Given the description of an element on the screen output the (x, y) to click on. 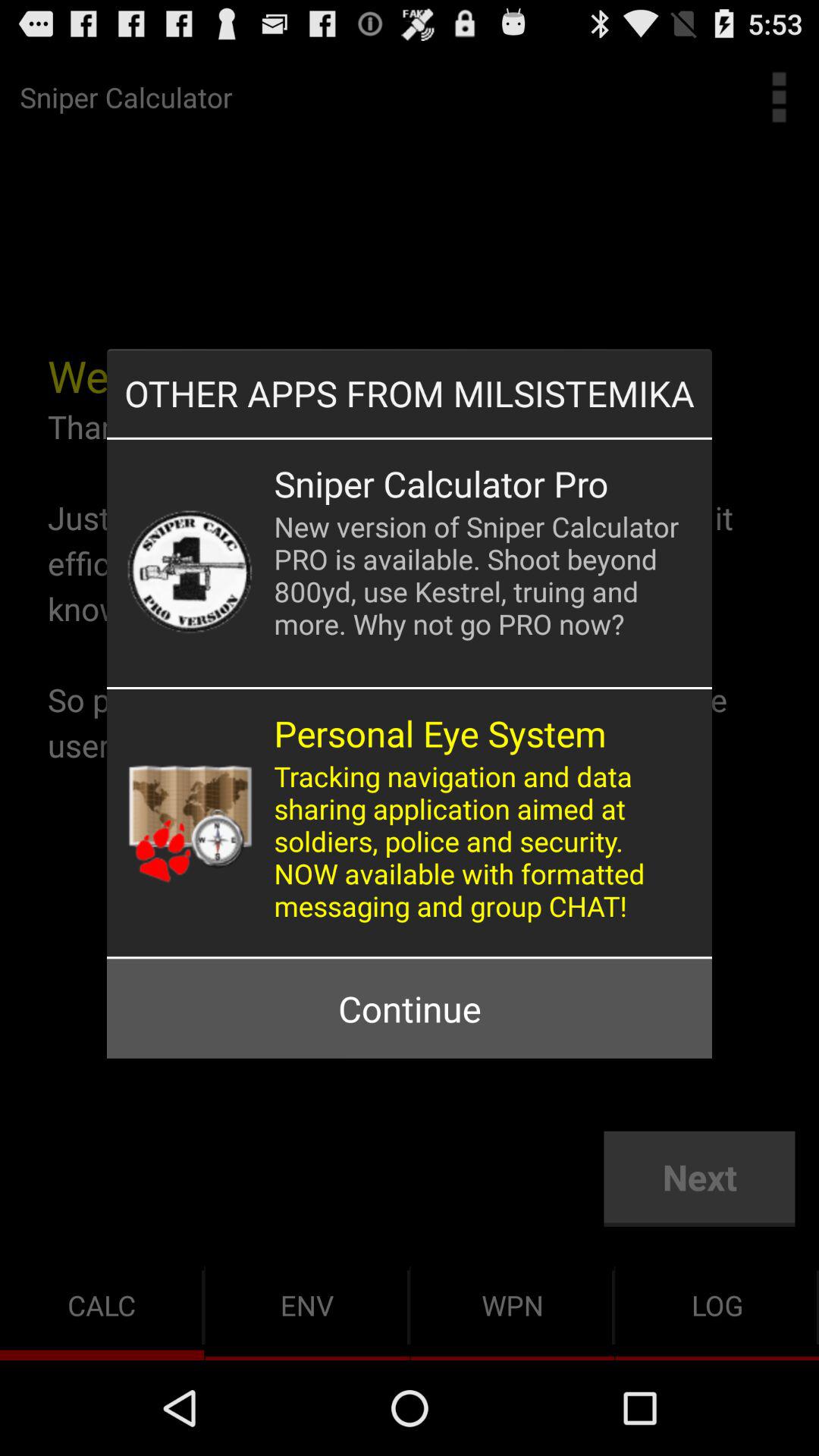
choose the item at the bottom (409, 1008)
